Given the description of an element on the screen output the (x, y) to click on. 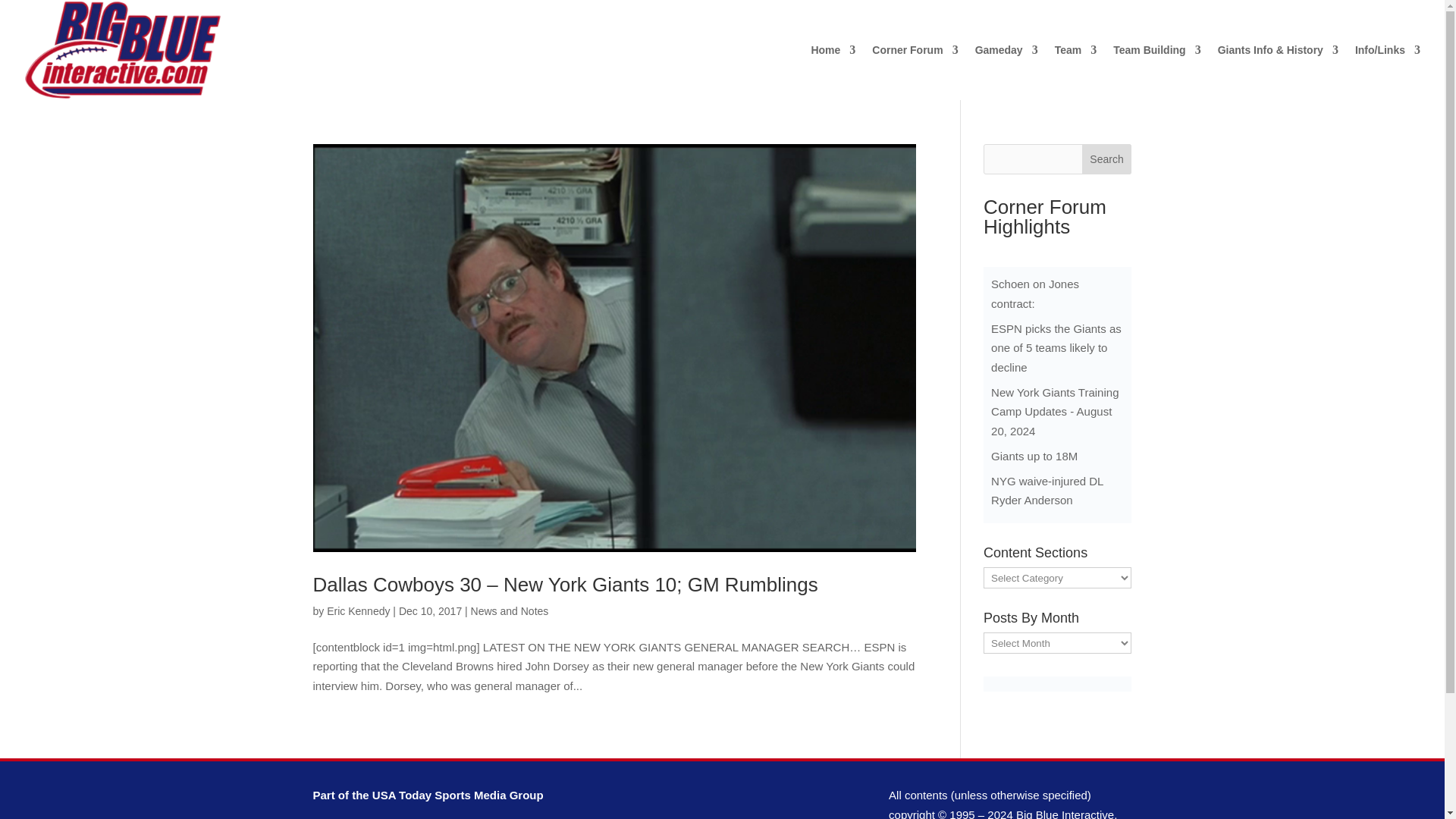
Posts by Eric Kennedy (358, 611)
Search (1106, 159)
Gameday (1006, 72)
Team Building (1156, 72)
Corner Forum (915, 72)
